Given the description of an element on the screen output the (x, y) to click on. 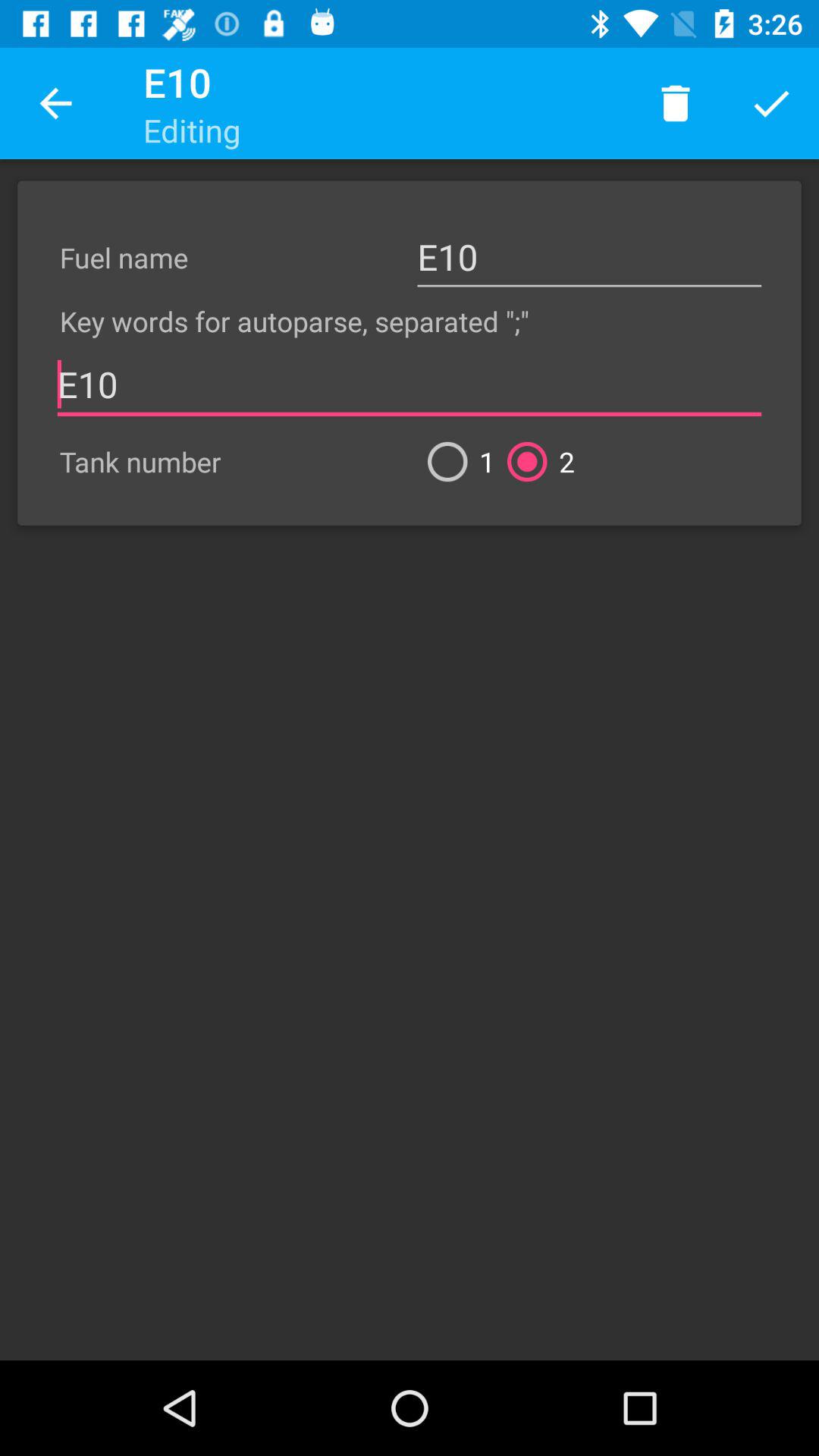
select 1 (455, 461)
